Given the description of an element on the screen output the (x, y) to click on. 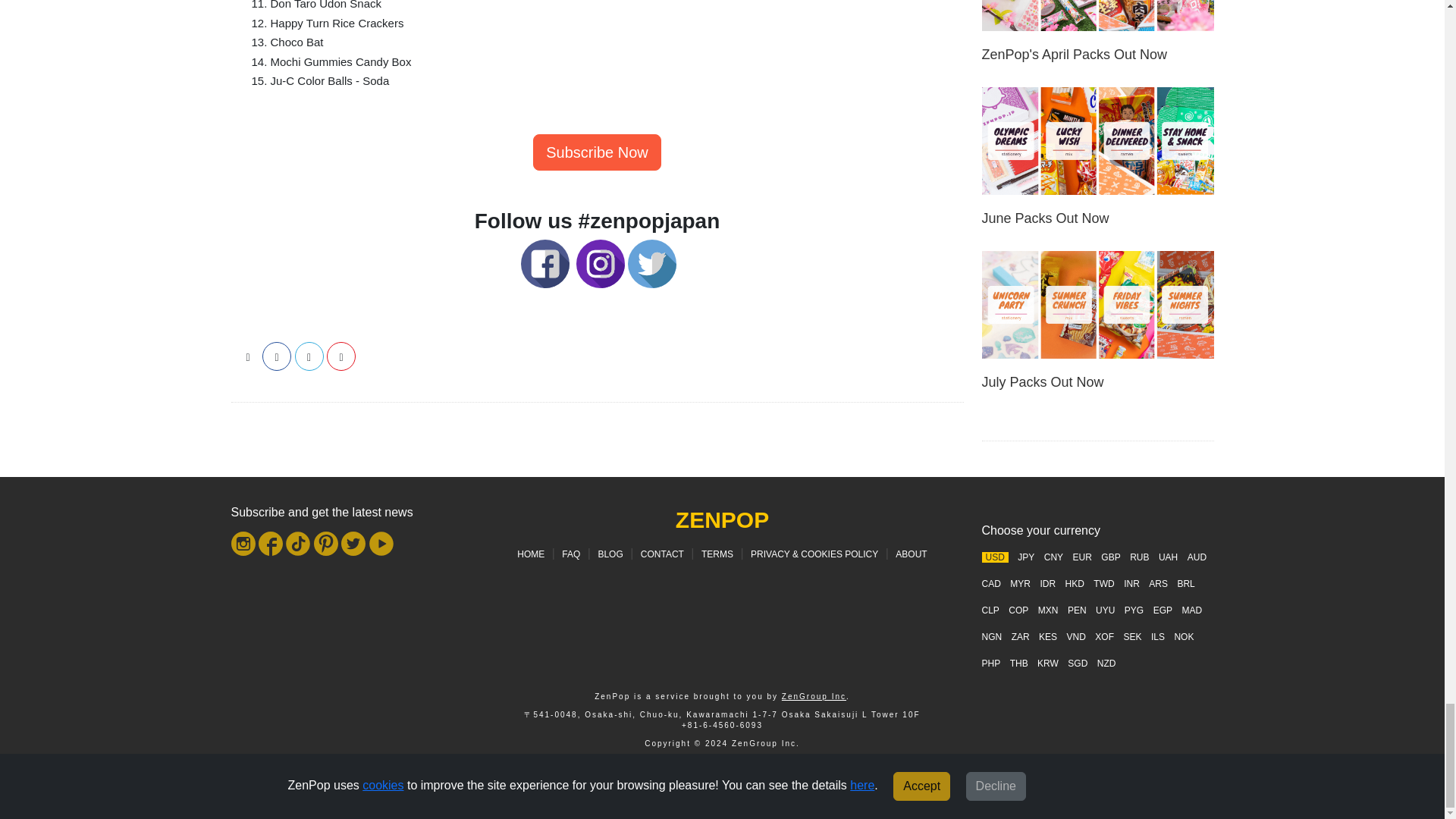
Twitter - ZenPop (652, 262)
ZenPop's Japanese Sweets Subscription Box (596, 152)
Instagram - ZenPop (600, 262)
Facebook - ZenPop (545, 262)
